Given the description of an element on the screen output the (x, y) to click on. 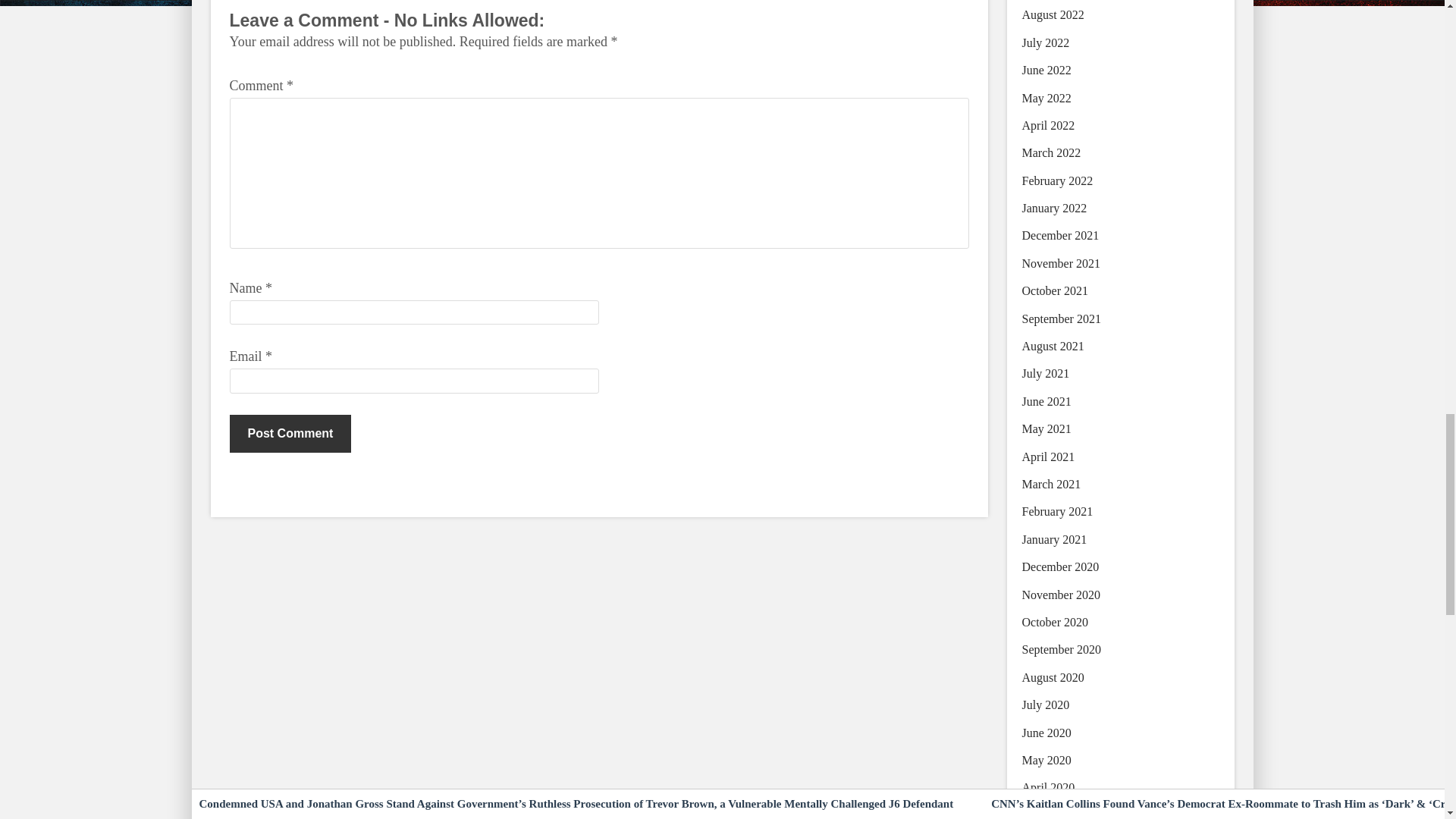
Post Comment (289, 433)
